Given the description of an element on the screen output the (x, y) to click on. 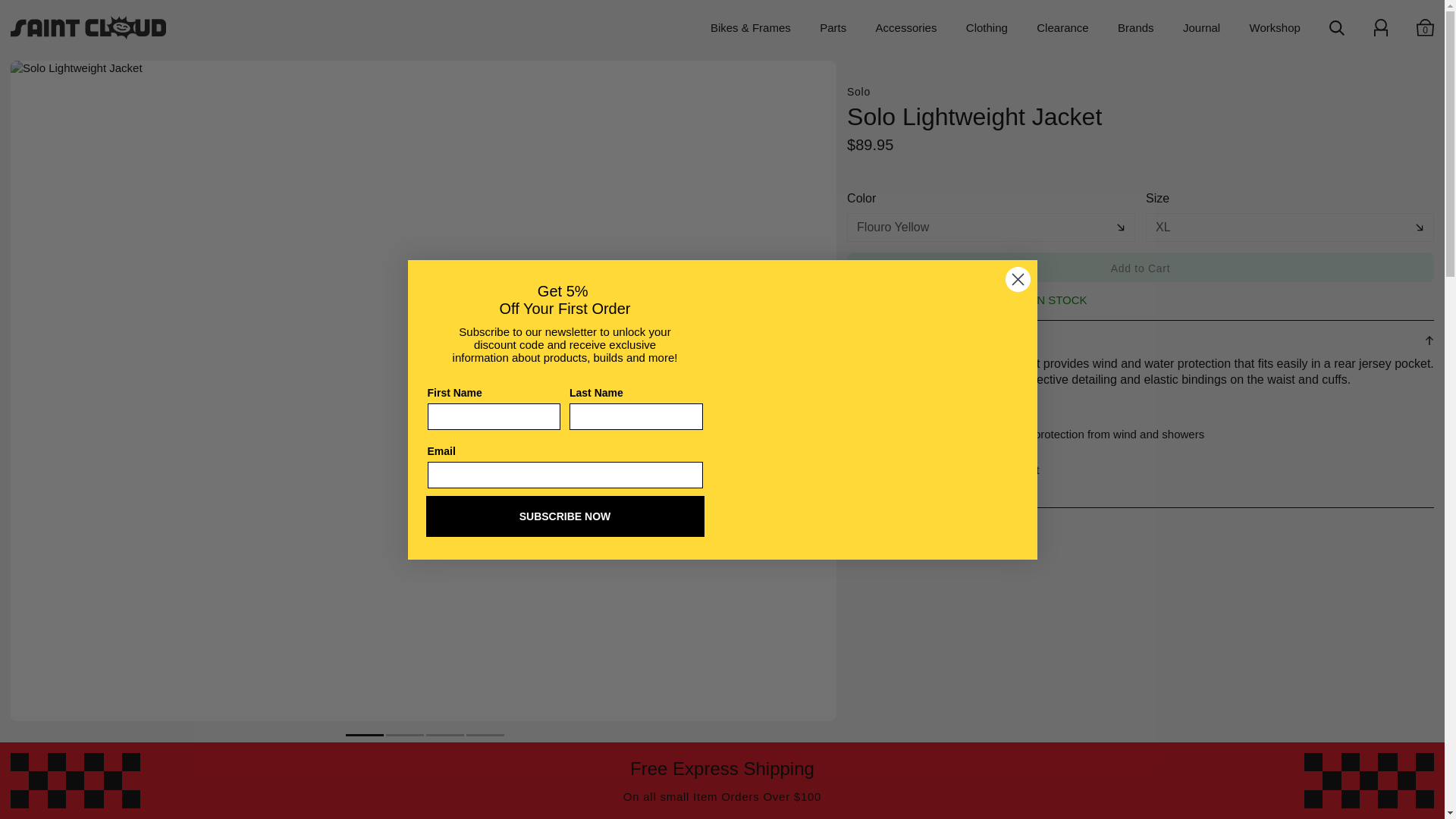
Close dialog 2 (1017, 278)
